Given the description of an element on the screen output the (x, y) to click on. 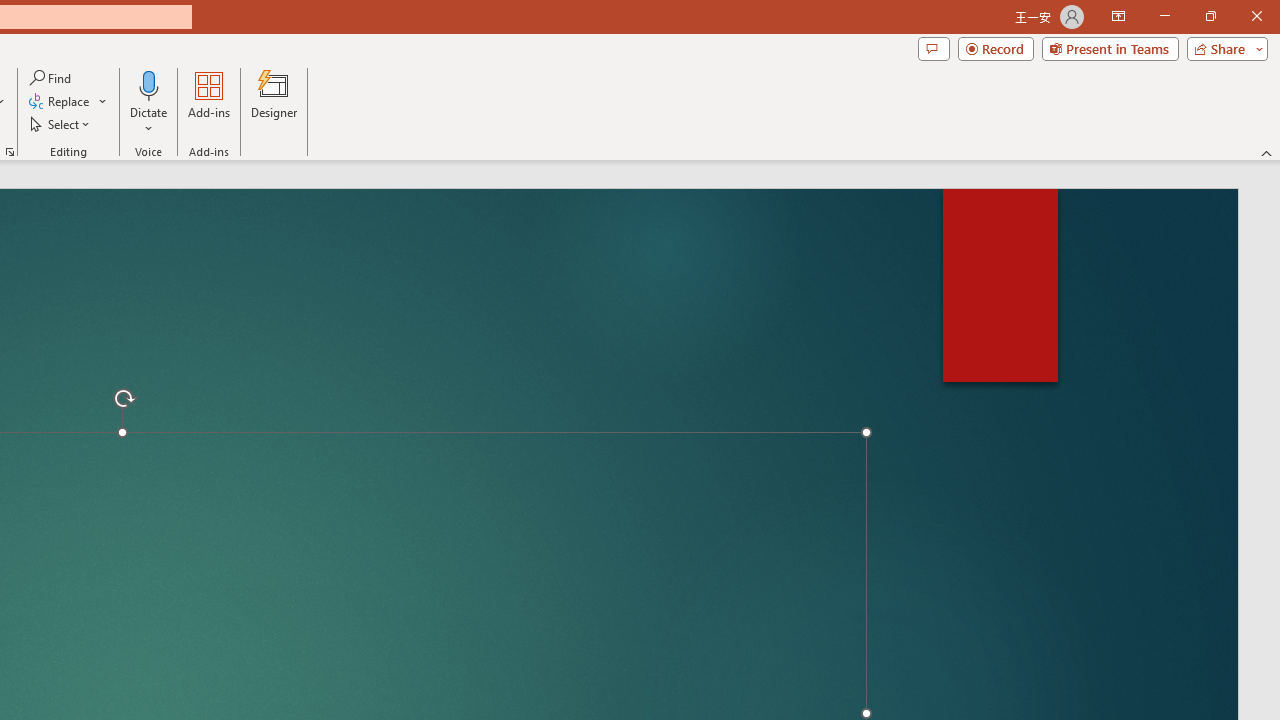
Replace... (68, 101)
Dictate (149, 102)
Find... (51, 78)
Select (61, 124)
Designer (274, 102)
Dictate (149, 84)
